Given the description of an element on the screen output the (x, y) to click on. 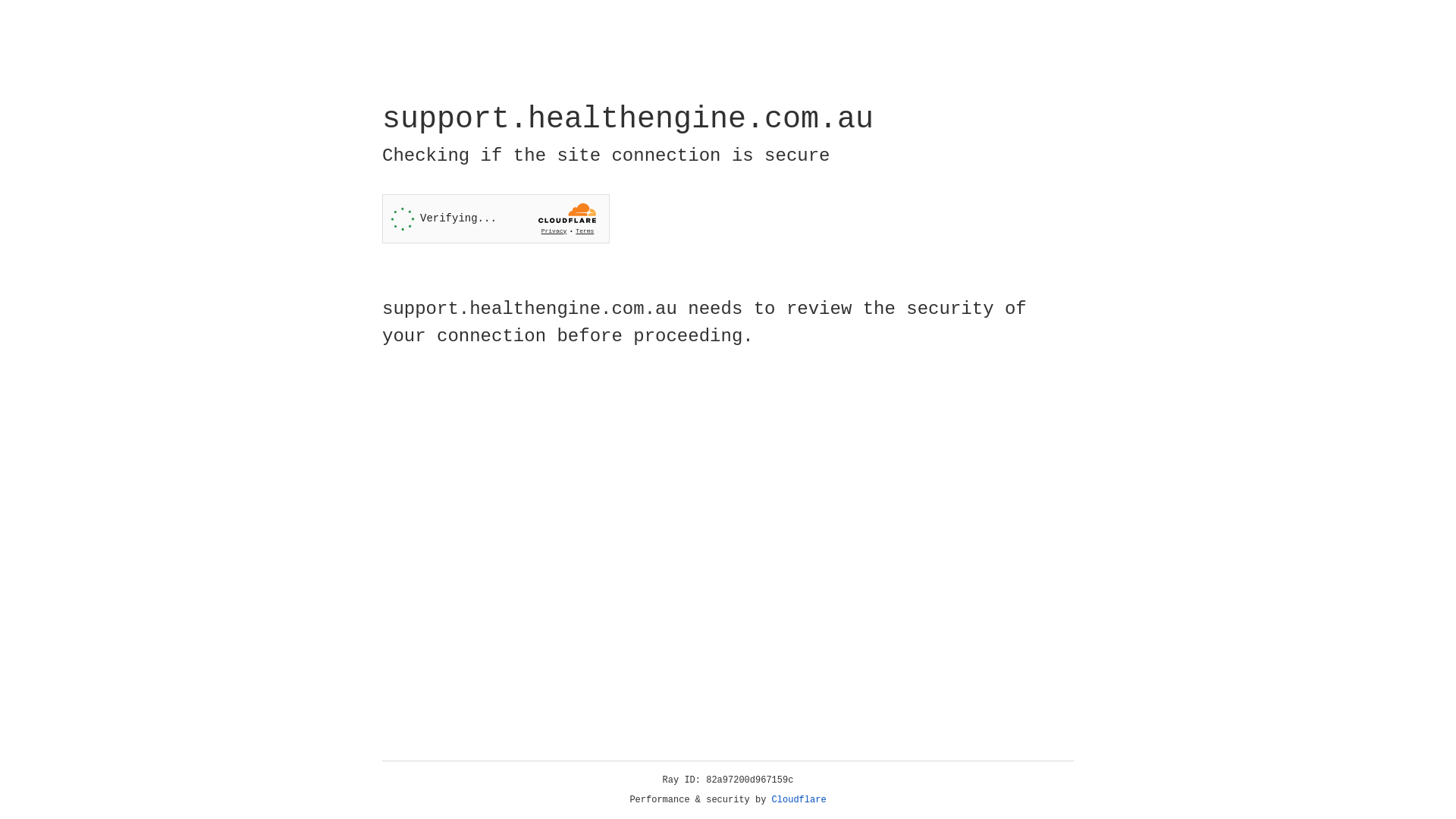
Cloudflare Element type: text (798, 799)
Widget containing a Cloudflare security challenge Element type: hover (495, 218)
